Given the description of an element on the screen output the (x, y) to click on. 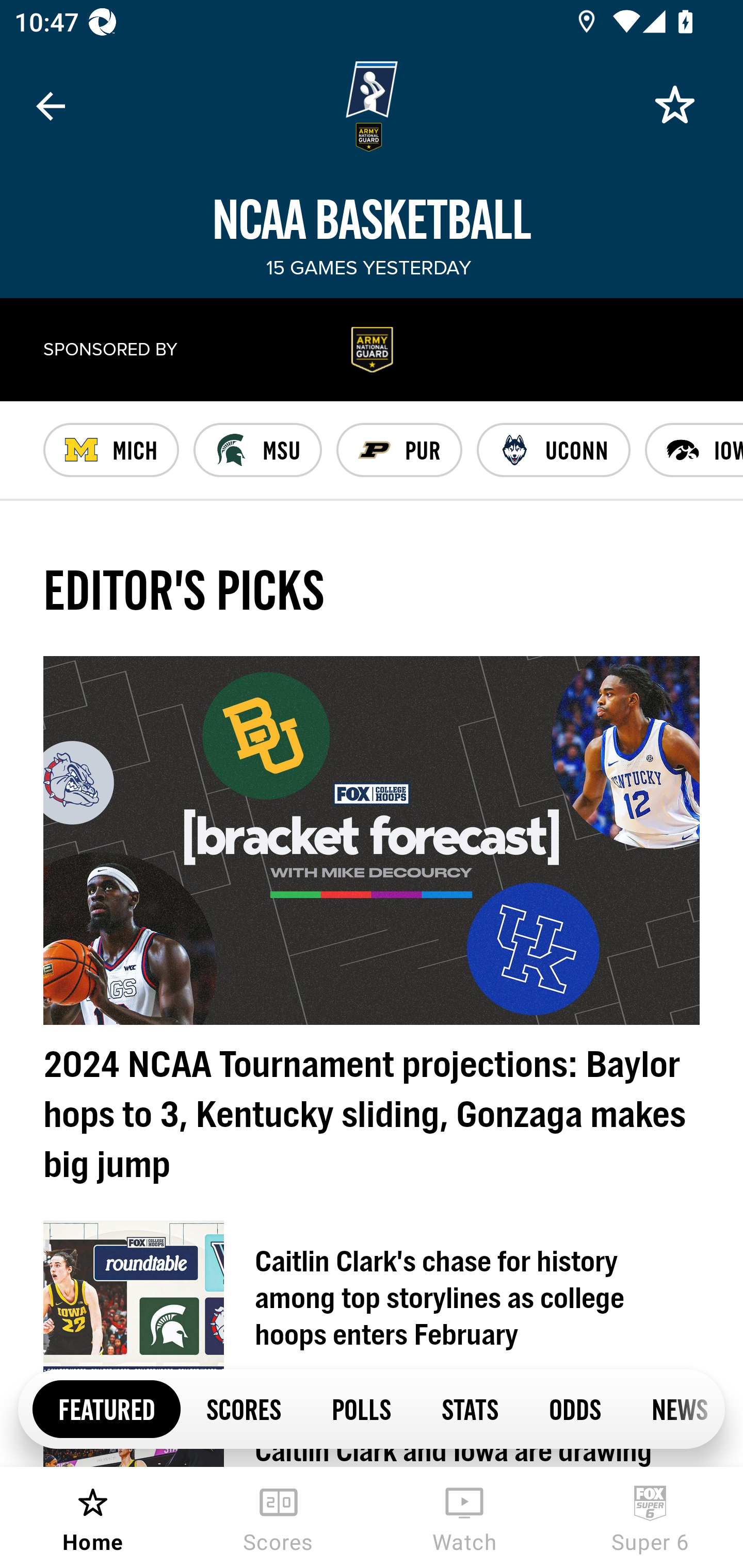
Navigate up (50, 106)
15 GAMES YESTERDAY (368, 267)
MICH (111, 449)
MSU (257, 449)
PUR (399, 449)
UCONN (553, 449)
IOWA (693, 449)
SCORES (243, 1408)
POLLS (361, 1408)
STATS (469, 1408)
ODDS (574, 1408)
NEWS (675, 1408)
Scores (278, 1517)
Watch (464, 1517)
Super 6 (650, 1517)
